Given the description of an element on the screen output the (x, y) to click on. 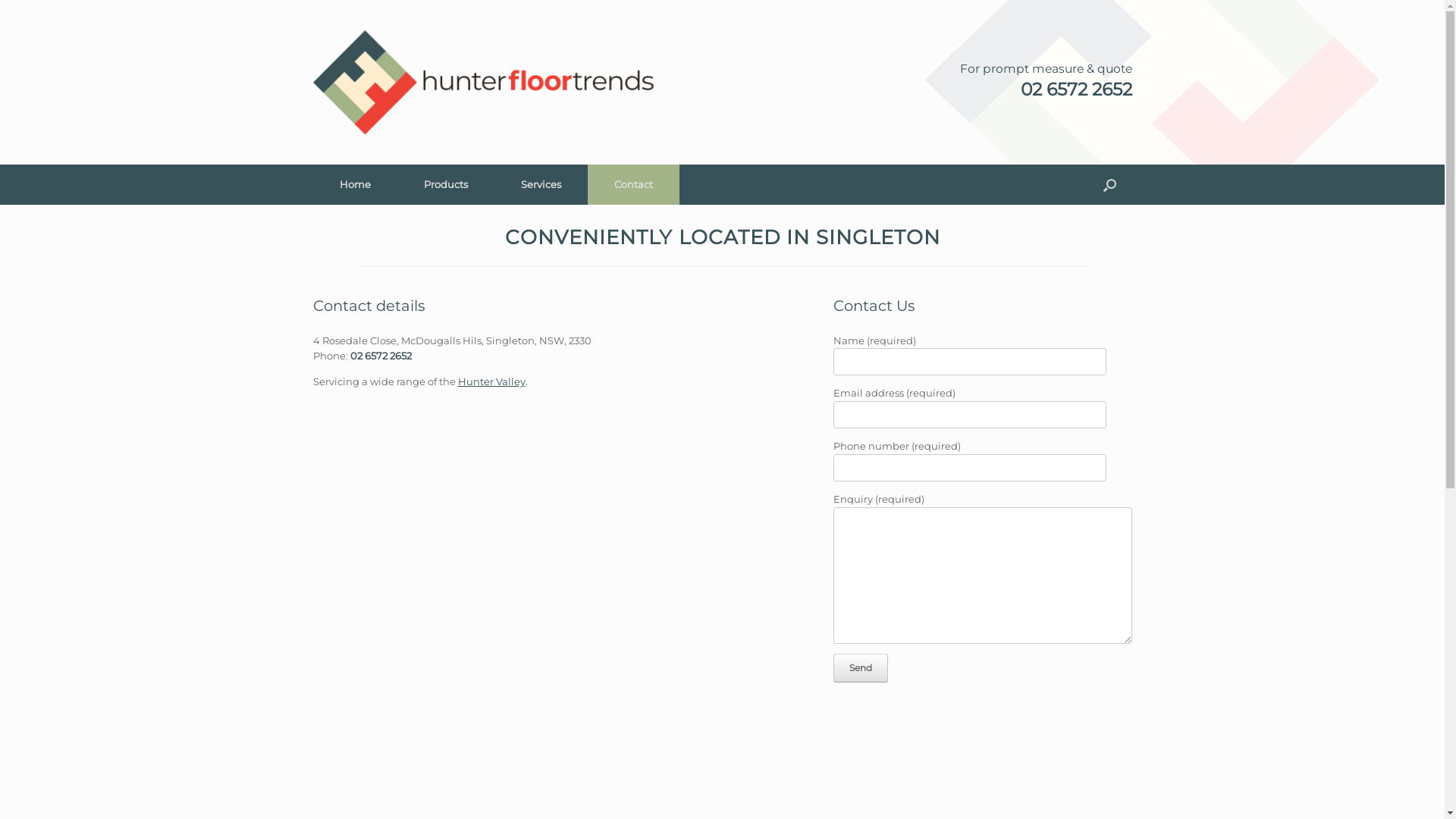
Send Element type: text (860, 667)
Hunter Valley Element type: text (491, 381)
Skip to content Element type: text (0, 0)
Services Element type: text (540, 184)
Hunter Floor Trends Element type: hover (482, 82)
02 6572 2652 Element type: text (1046, 88)
02 6572 2652 Element type: text (380, 355)
Contact Element type: text (632, 184)
Home Element type: text (354, 184)
Products Element type: text (445, 184)
